Given the description of an element on the screen output the (x, y) to click on. 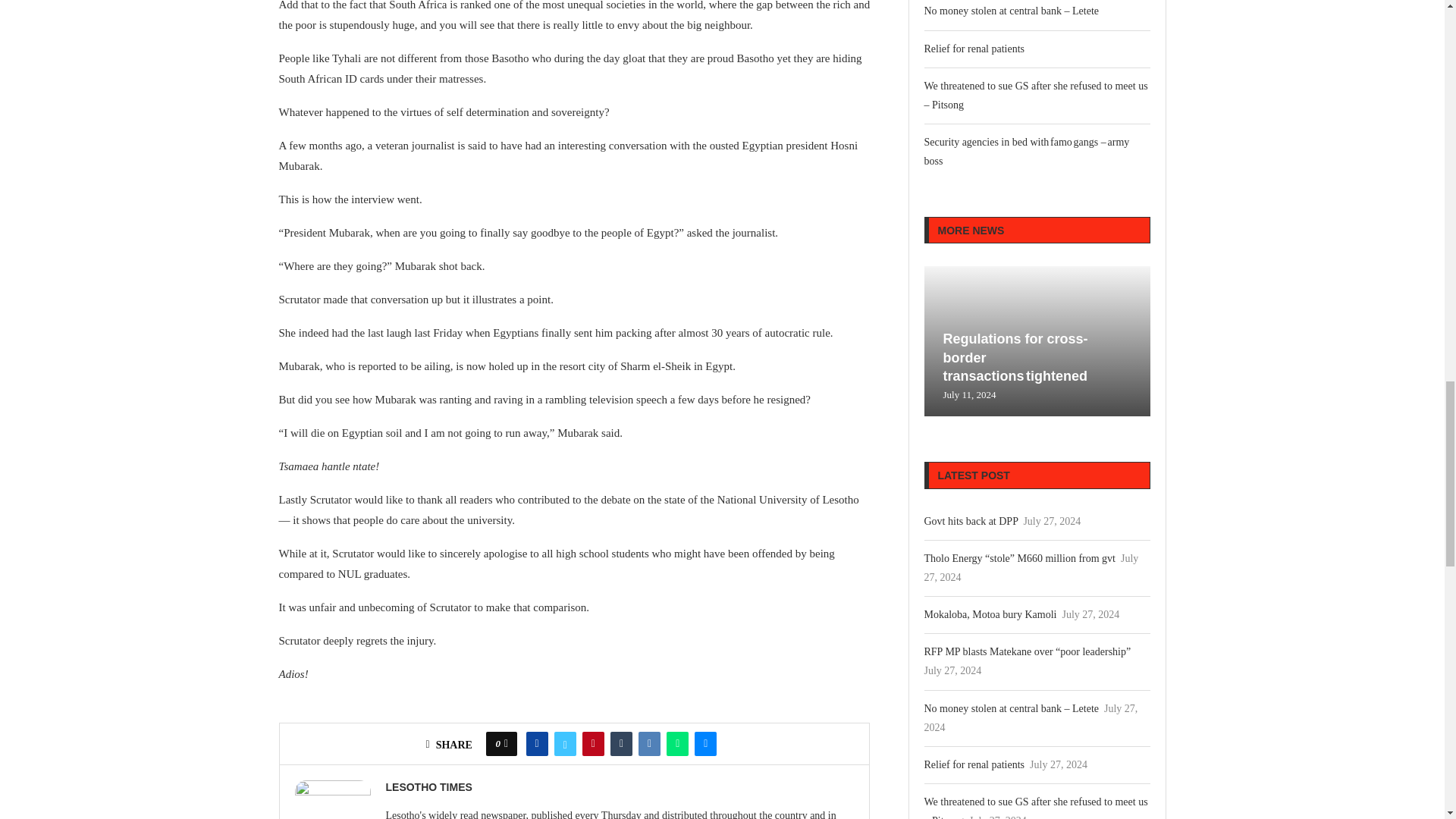
Author Lesotho Times (428, 787)
